Given the description of an element on the screen output the (x, y) to click on. 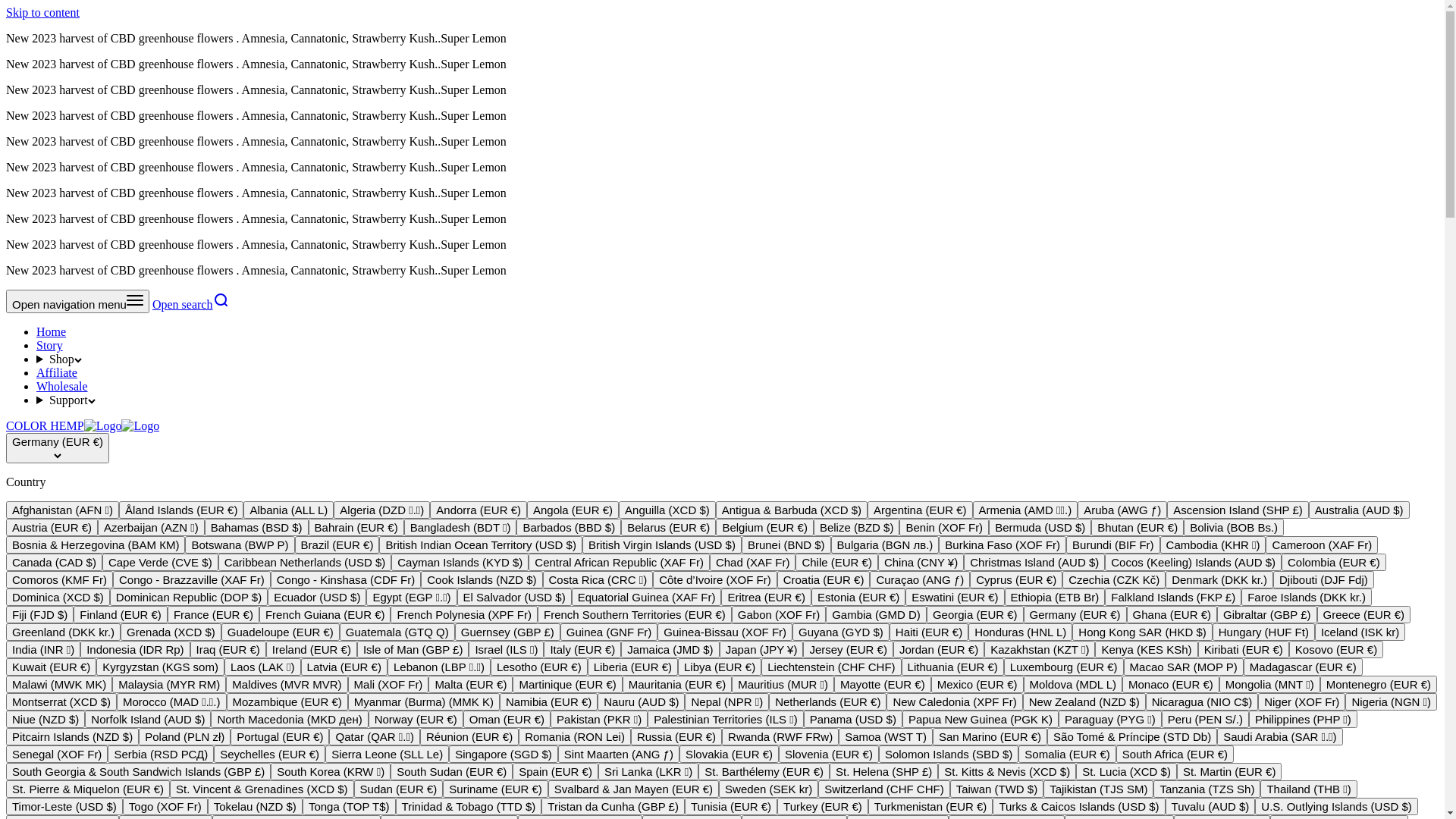
Panama (USD $) Element type: text (852, 719)
Romania (RON Lei) Element type: text (574, 736)
Tuvalu (AUD $) Element type: text (1210, 806)
Nicaragua (NIO C$) Element type: text (1201, 701)
Burkina Faso (XOF Fr) Element type: text (1002, 544)
Sweden (SEK kr) Element type: text (768, 788)
Norfolk Island (AUD $) Element type: text (147, 719)
French Polynesia (XPF Fr) Element type: text (463, 614)
Cameroon (XAF Fr) Element type: text (1321, 544)
Chad (XAF Fr) Element type: text (752, 562)
Malaysia (MYR RM) Element type: text (168, 684)
Malawi (MWK MK) Element type: text (59, 684)
Tokelau (NZD $) Element type: text (254, 806)
Trinidad & Tobago (TTD $) Element type: text (468, 806)
El Salvador (USD $) Element type: text (514, 596)
Kenya (KES KSh) Element type: text (1146, 649)
Moldova (MDL L) Element type: text (1072, 684)
Story Element type: text (49, 344)
Bolivia (BOB Bs.) Element type: text (1233, 527)
St. Lucia (XCD $) Element type: text (1126, 771)
Guinea (GNF Fr) Element type: text (609, 631)
Kyrgyzstan (KGS som) Element type: text (160, 666)
Niger (XOF Fr) Element type: text (1301, 701)
Timor-Leste (USD $) Element type: text (64, 806)
Antigua & Barbuda (XCD $) Element type: text (791, 509)
Niue (NZD $) Element type: text (45, 719)
Peru (PEN S/.) Element type: text (1204, 719)
Papua New Guinea (PGK K) Element type: text (980, 719)
Macao SAR (MOP P) Element type: text (1183, 666)
Sierra Leone (SLL Le) Element type: text (386, 753)
Gabon (XOF Fr) Element type: text (778, 614)
U.S. Outlying Islands (USD $) Element type: text (1336, 806)
Guyana (GYD $) Element type: text (840, 631)
Grenada (XCD $) Element type: text (170, 631)
Hungary (HUF Ft) Element type: text (1263, 631)
Guatemala (GTQ Q) Element type: text (397, 631)
Indonesia (IDR Rp) Element type: text (134, 649)
Skip to content Element type: text (42, 12)
Bermuda (USD $) Element type: text (1039, 527)
Tonga (TOP T$) Element type: text (348, 806)
Anguilla (XCD $) Element type: text (666, 509)
Togo (XOF Fr) Element type: text (164, 806)
Djibouti (DJF Fdj) Element type: text (1323, 579)
St. Kitts & Nevis (XCD $) Element type: text (1007, 771)
British Indian Ocean Territory (USD $) Element type: text (480, 544)
Caribbean Netherlands (USD $) Element type: text (305, 562)
Denmark (DKK kr.) Element type: text (1219, 579)
Taiwan (TWD $) Element type: text (997, 788)
Pitcairn Islands (NZD $) Element type: text (72, 736)
Christmas Island (AUD $) Element type: text (1033, 562)
British Virgin Islands (USD $) Element type: text (661, 544)
Rwanda (RWF FRw) Element type: text (779, 736)
Benin (XOF Fr) Element type: text (943, 527)
Jamaica (JMD $) Element type: text (669, 649)
Dominica (XCD $) Element type: text (57, 596)
Ecuador (USD $) Element type: text (316, 596)
Home Element type: text (50, 331)
Belize (BZD $) Element type: text (856, 527)
Botswana (BWP P) Element type: text (239, 544)
COLOR HEMP Element type: text (82, 425)
Canada (CAD $) Element type: text (54, 562)
Iceland (ISK kr) Element type: text (1359, 631)
Faroe Islands (DKK kr.) Element type: text (1306, 596)
Switzerland (CHF CHF) Element type: text (884, 788)
Liechtenstein (CHF CHF) Element type: text (830, 666)
Fiji (FJD $) Element type: text (39, 614)
Hong Kong SAR (HKD $) Element type: text (1141, 631)
Senegal (XOF Fr) Element type: text (56, 753)
Gambia (GMD D) Element type: text (875, 614)
Myanmar (Burma) (MMK K) Element type: text (423, 701)
Barbados (BBD $) Element type: text (568, 527)
Burundi (BIF Fr) Element type: text (1113, 544)
Wholesale Element type: text (61, 385)
Guinea-Bissau (XOF Fr) Element type: text (724, 631)
Samoa (WST T) Element type: text (885, 736)
Bahamas (BSD $) Element type: text (256, 527)
Congo - Brazzaville (XAF Fr) Element type: text (191, 579)
Open navigation menu Element type: text (77, 301)
Congo - Kinshasa (CDF Fr) Element type: text (345, 579)
Tanzania (TZS Sh) Element type: text (1206, 788)
Turks & Caicos Islands (USD $) Element type: text (1078, 806)
St. Vincent & Grenadines (XCD $) Element type: text (261, 788)
Montserrat (XCD $) Element type: text (61, 701)
Honduras (HNL L) Element type: text (1020, 631)
Affiliate Element type: text (56, 372)
New Zealand (NZD $) Element type: text (1083, 701)
Cayman Islands (KYD $) Element type: text (459, 562)
Brunei (BND $) Element type: text (786, 544)
New Caledonia (XPF Fr) Element type: text (954, 701)
Cape Verde (CVE $) Element type: text (160, 562)
Nauru (AUD $) Element type: text (640, 701)
Dominican Republic (DOP $) Element type: text (188, 596)
Cook Islands (NZD $) Element type: text (481, 579)
Maldives (MVR MVR) Element type: text (286, 684)
Comoros (KMF Fr) Element type: text (59, 579)
Albania (ALL L) Element type: text (288, 509)
Open search Element type: text (190, 304)
Ethiopia (ETB Br) Element type: text (1054, 596)
Central African Republic (XAF Fr) Element type: text (618, 562)
Australia (AUD $) Element type: text (1358, 509)
Singapore (SGD $) Element type: text (503, 753)
Equatorial Guinea (XAF Fr) Element type: text (646, 596)
Mali (XOF Fr) Element type: text (388, 684)
Cocos (Keeling) Islands (AUD $) Element type: text (1192, 562)
Solomon Islands (SBD $) Element type: text (948, 753)
Greenland (DKK kr.) Element type: text (63, 631)
